Given the description of an element on the screen output the (x, y) to click on. 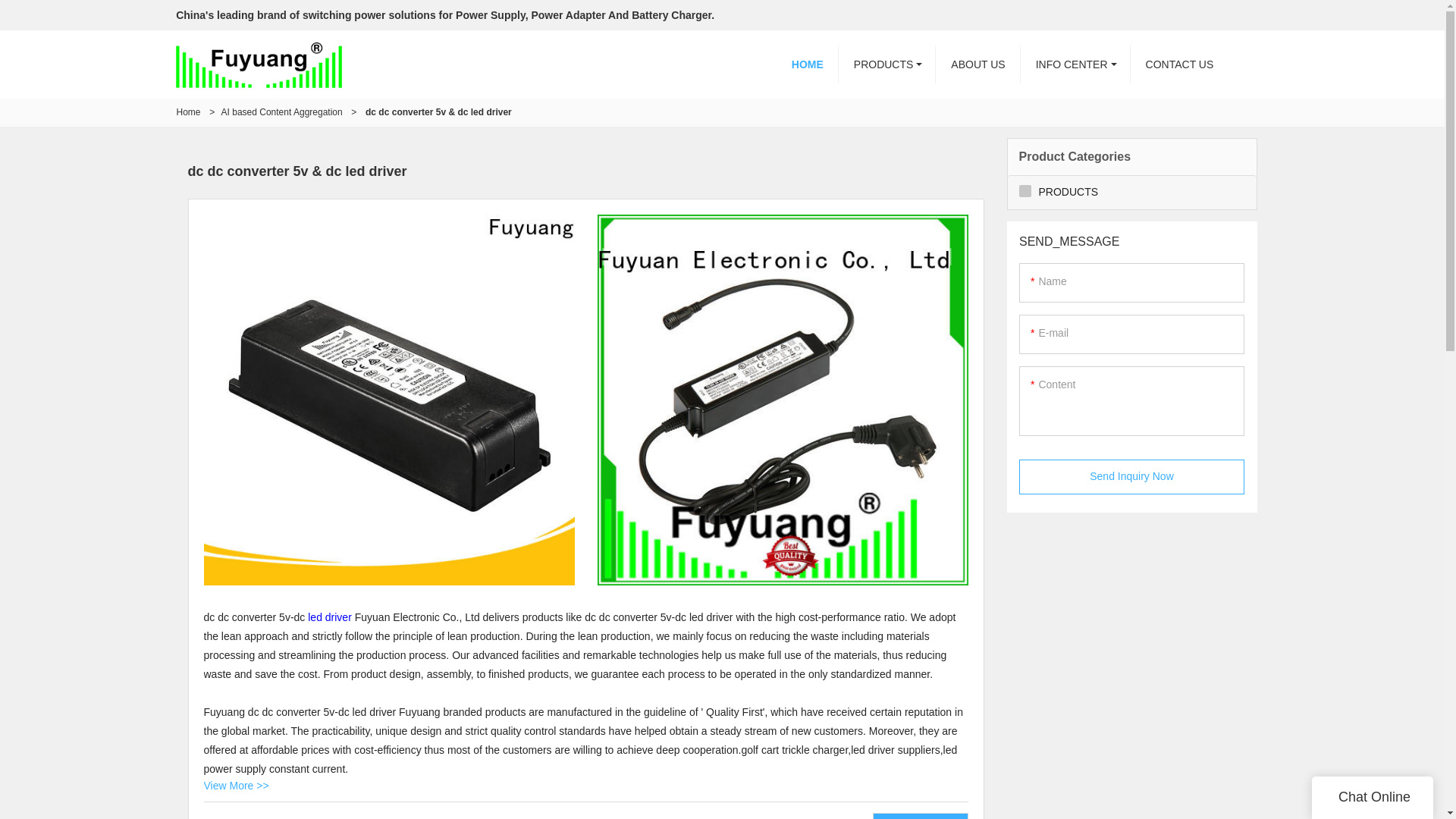
PRODUCTS (887, 64)
CONTACT US (1179, 64)
AI based Content Aggregation (281, 112)
led driver (329, 616)
INFO CENTER (1075, 64)
HOME (807, 64)
ABOUT US (978, 64)
Home (188, 112)
